Given the description of an element on the screen output the (x, y) to click on. 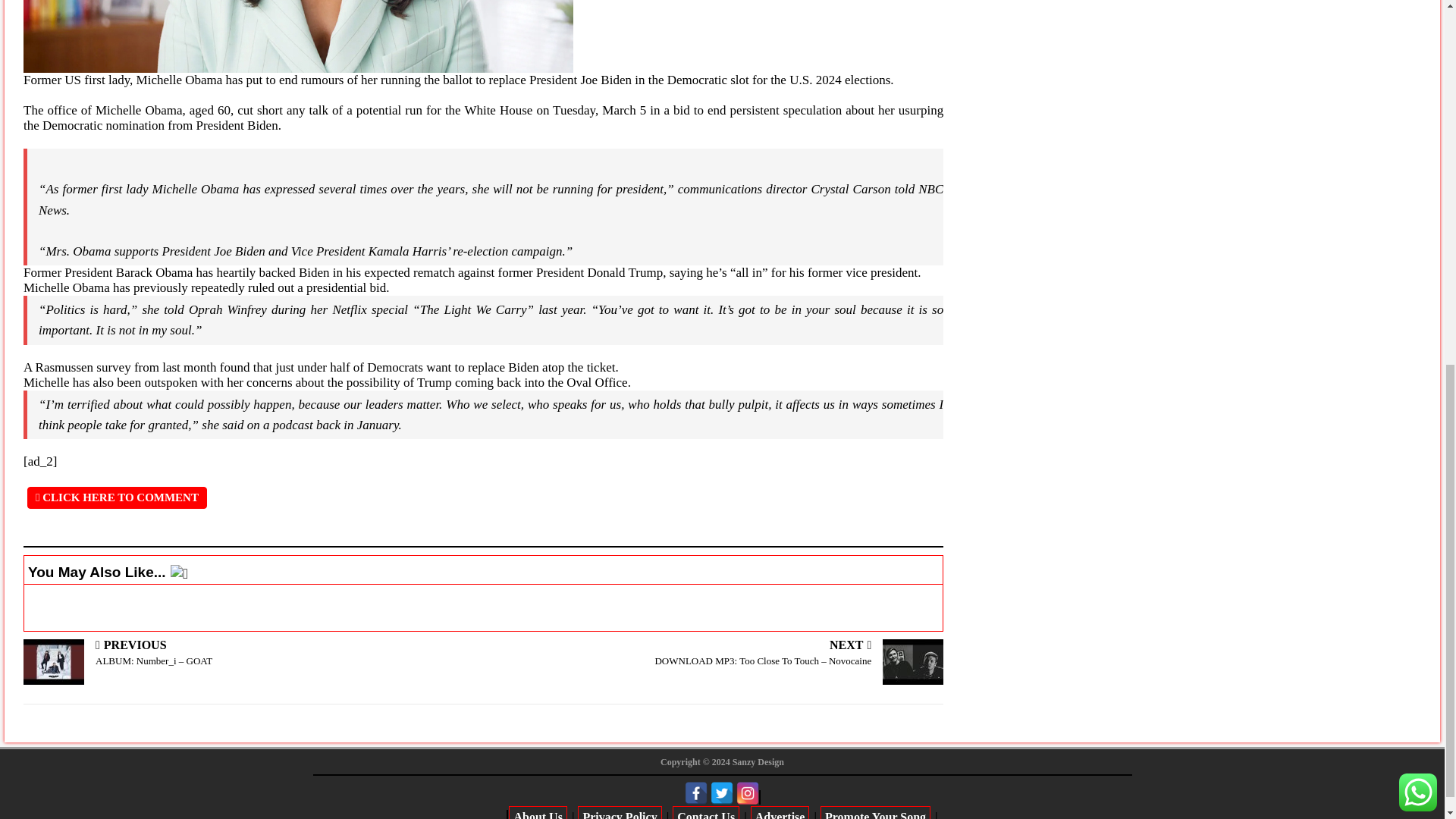
DOWNLOAD NOW!!! (483, 155)
Promote Your Song Now! (1418, 121)
CLICK HERE TO COMMENT (116, 497)
